Given the description of an element on the screen output the (x, y) to click on. 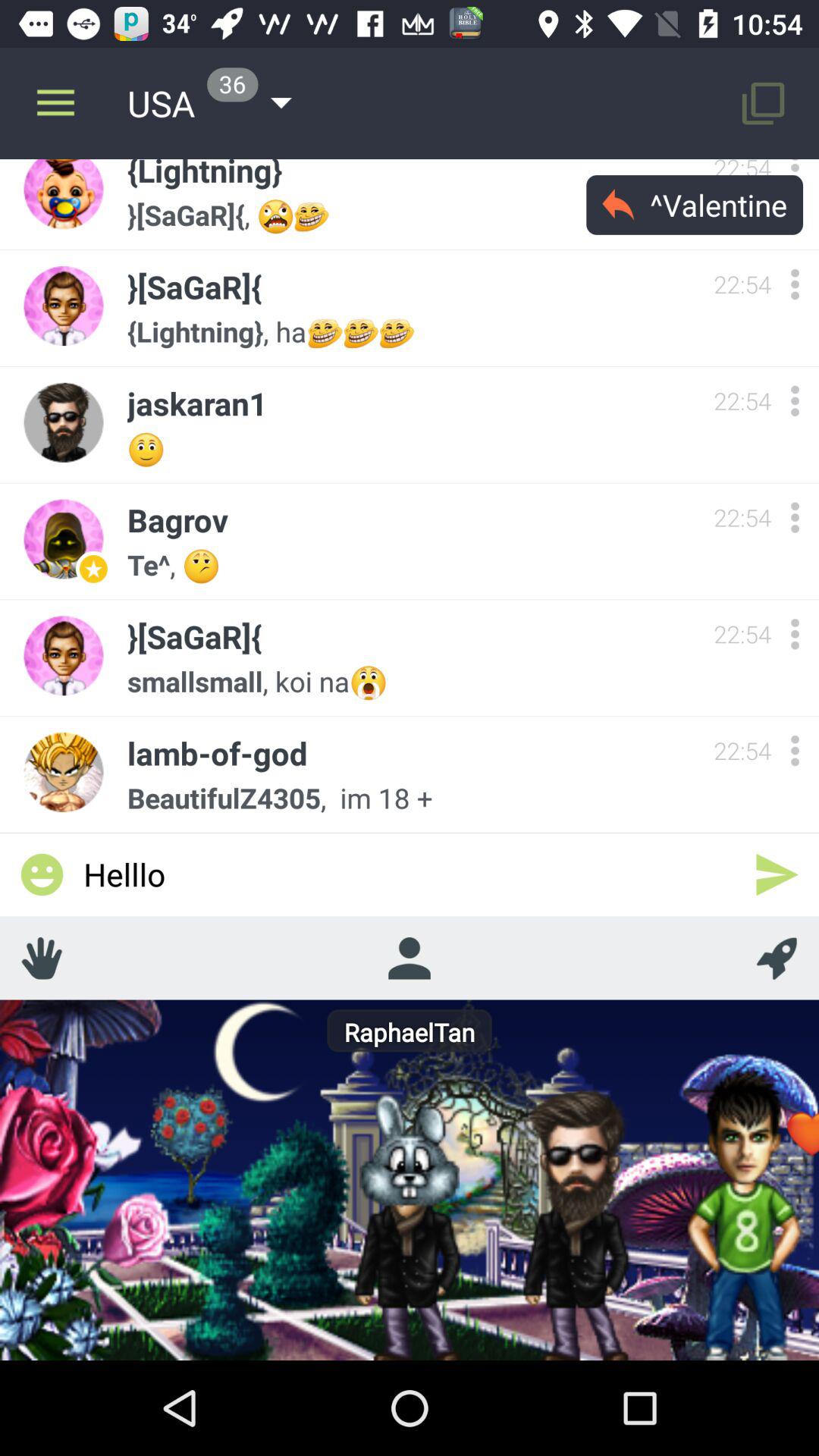
toggle autoplay option (777, 957)
